Given the description of an element on the screen output the (x, y) to click on. 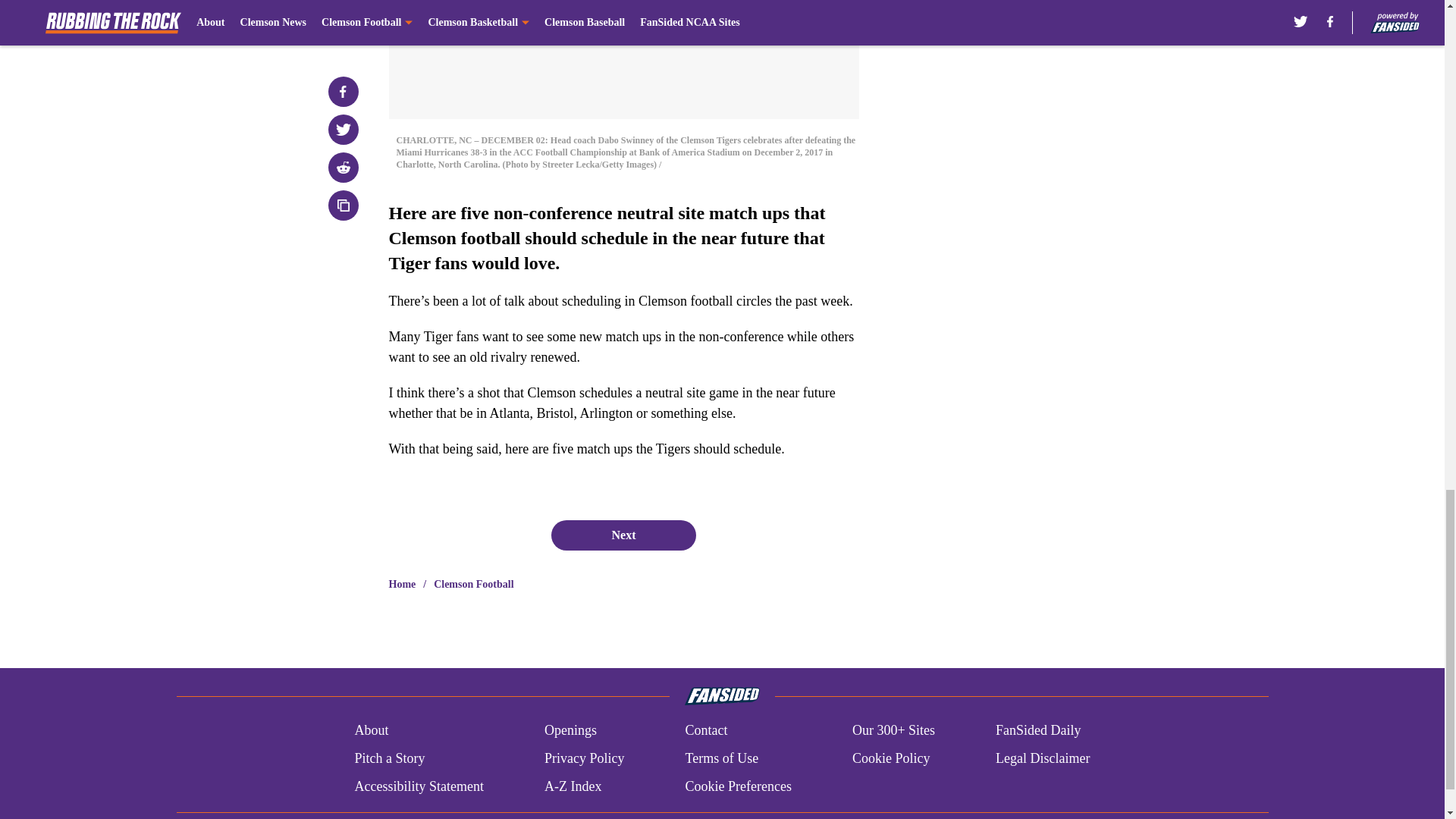
About (370, 730)
Pitch a Story (389, 758)
Legal Disclaimer (1042, 758)
Privacy Policy (584, 758)
FanSided Daily (1038, 730)
Home (401, 584)
Next (622, 535)
Cookie Policy (890, 758)
Accessibility Statement (418, 786)
Openings (570, 730)
